Given the description of an element on the screen output the (x, y) to click on. 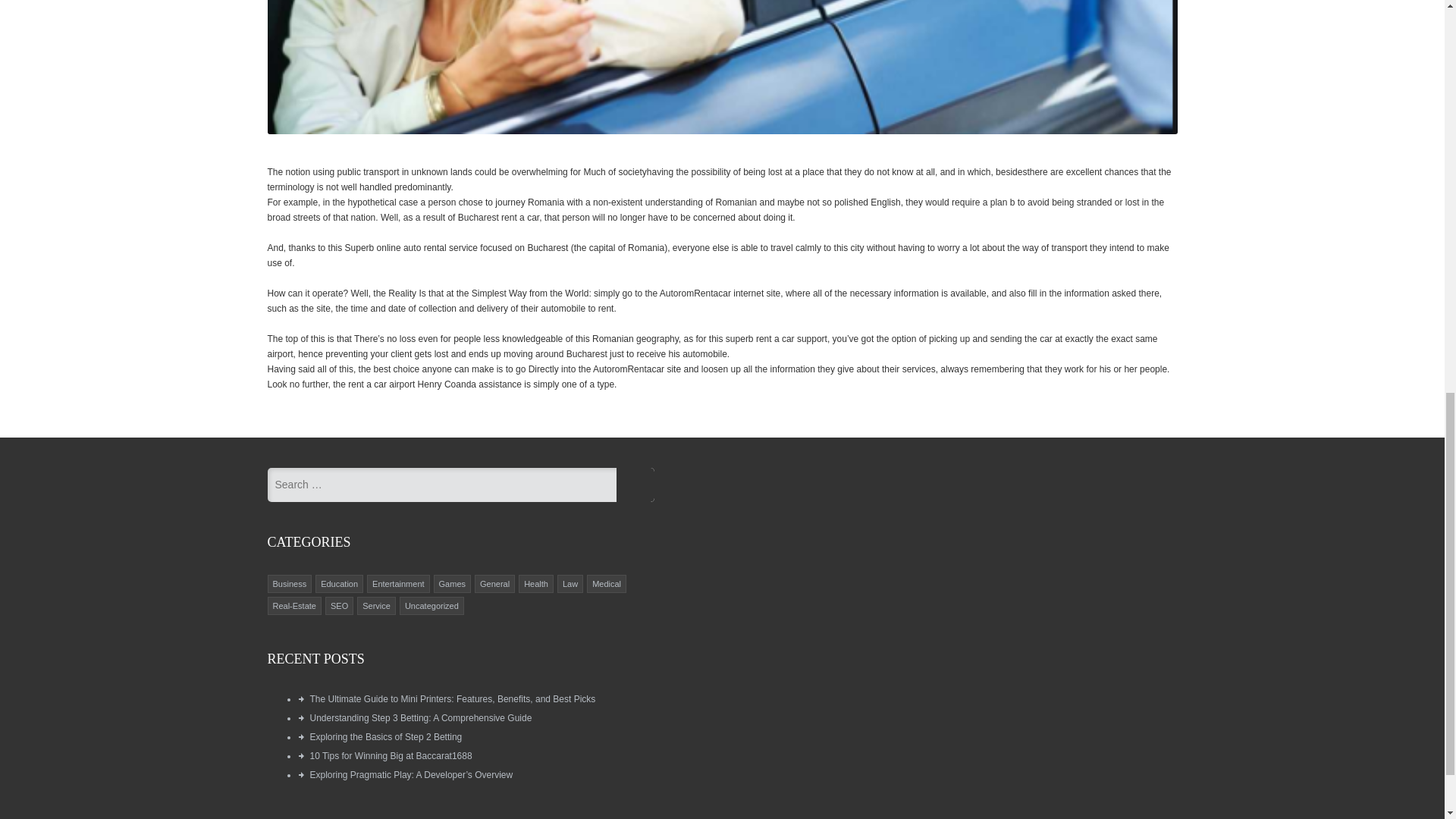
Medical (606, 583)
Service (376, 605)
Search (634, 484)
Search (634, 484)
Search for: (441, 484)
Games (452, 583)
Law (570, 583)
Understanding Step 3 Betting: A Comprehensive Guide (419, 717)
Search (634, 484)
Education (339, 583)
General (494, 583)
Uncategorized (431, 605)
Entertainment (397, 583)
Real-Estate (294, 605)
Exploring the Basics of Step 2 Betting (384, 737)
